Given the description of an element on the screen output the (x, y) to click on. 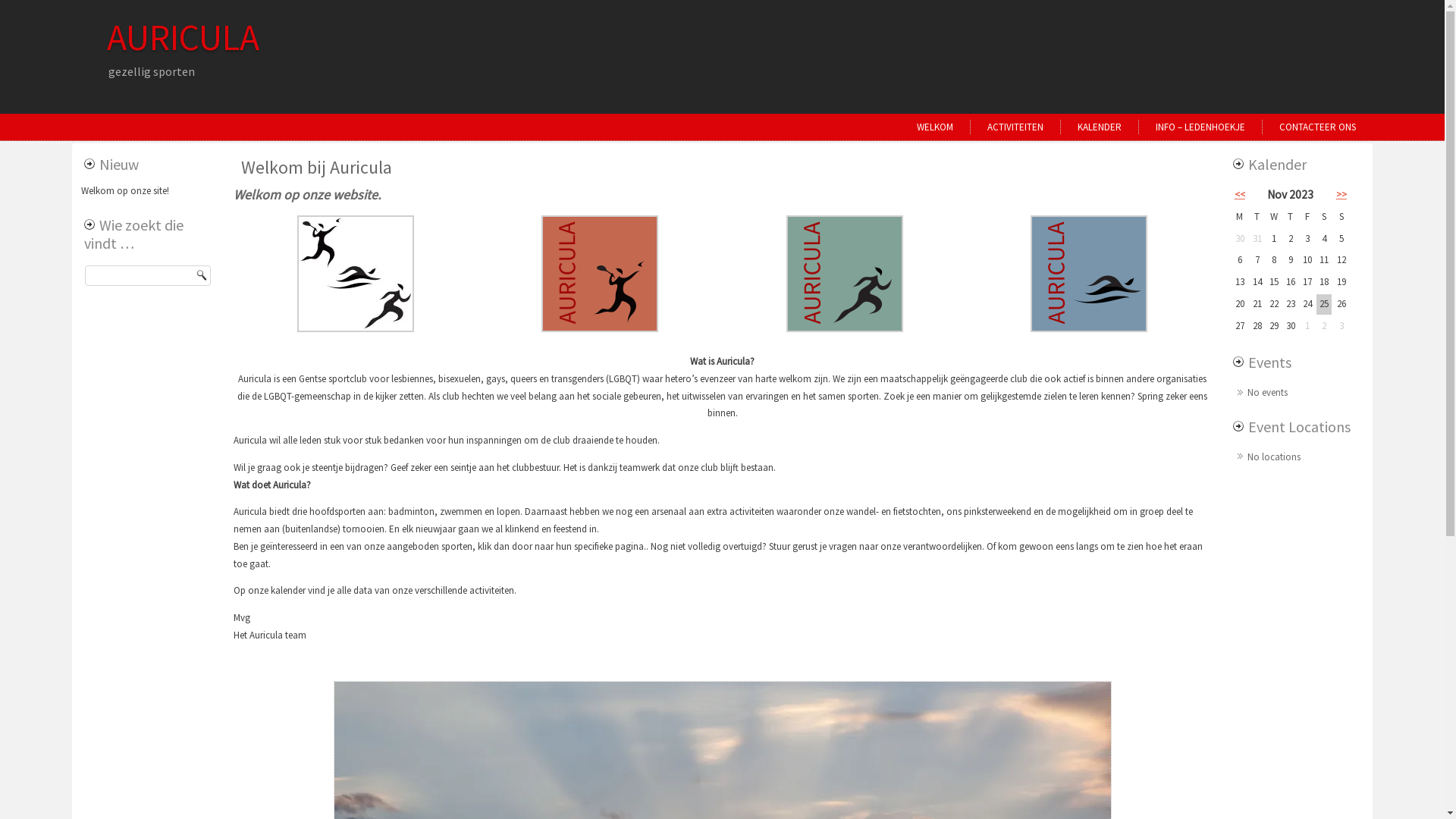
<< Element type: text (1239, 194)
ACTIVITEITEN Element type: text (1015, 126)
WELKOM Element type: text (934, 126)
AURICULA Element type: text (182, 36)
>> Element type: text (1341, 194)
KALENDER Element type: text (1099, 126)
CONTACTEER ONS Element type: text (1317, 126)
